Given the description of an element on the screen output the (x, y) to click on. 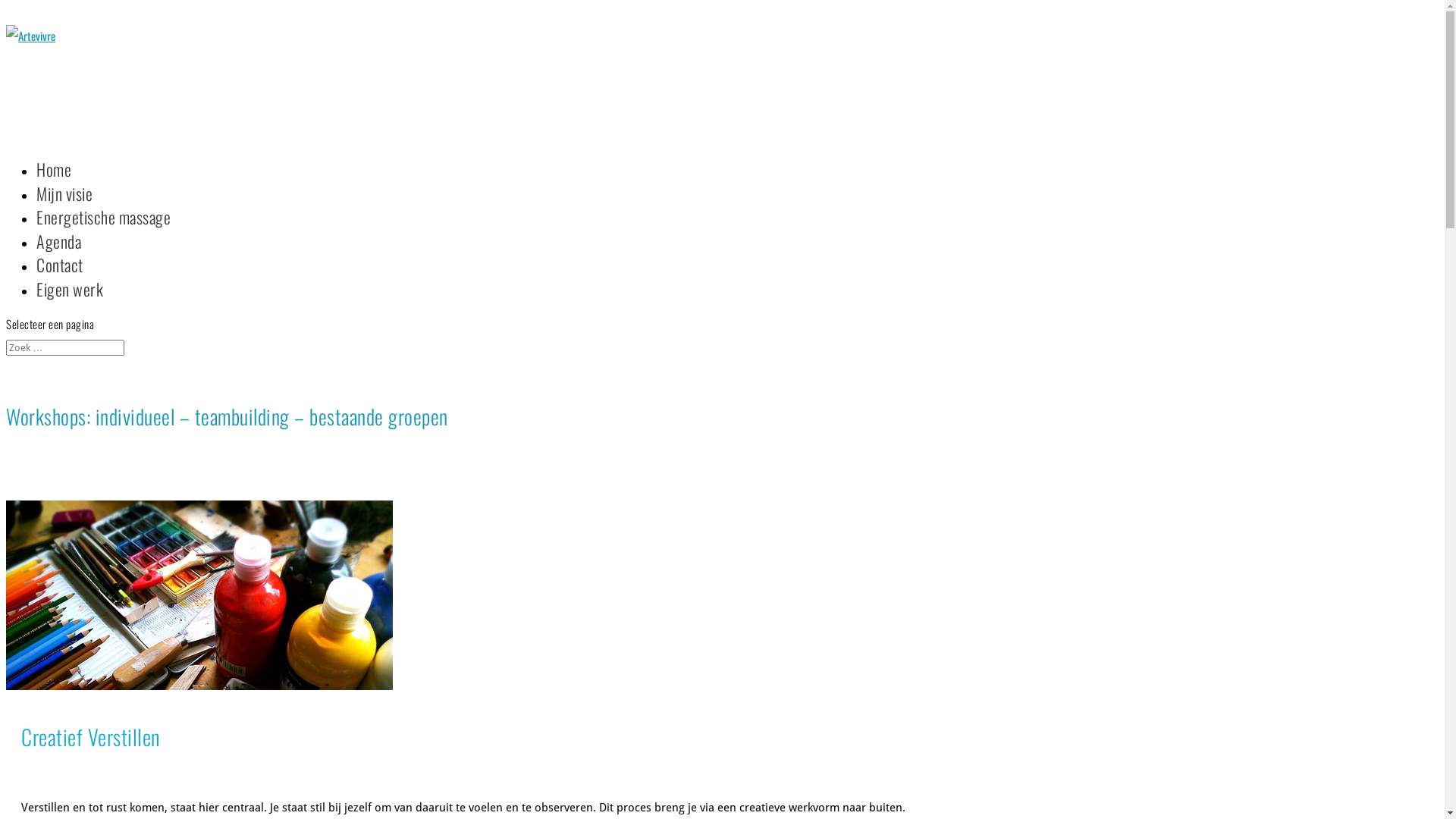
Home Element type: text (53, 186)
Agenda Element type: text (58, 258)
Zoek naar: Element type: hover (65, 347)
Energetische massage Element type: text (103, 233)
Contact Element type: text (59, 281)
Eigen werk Element type: text (69, 305)
Mijn visie Element type: text (64, 209)
